Given the description of an element on the screen output the (x, y) to click on. 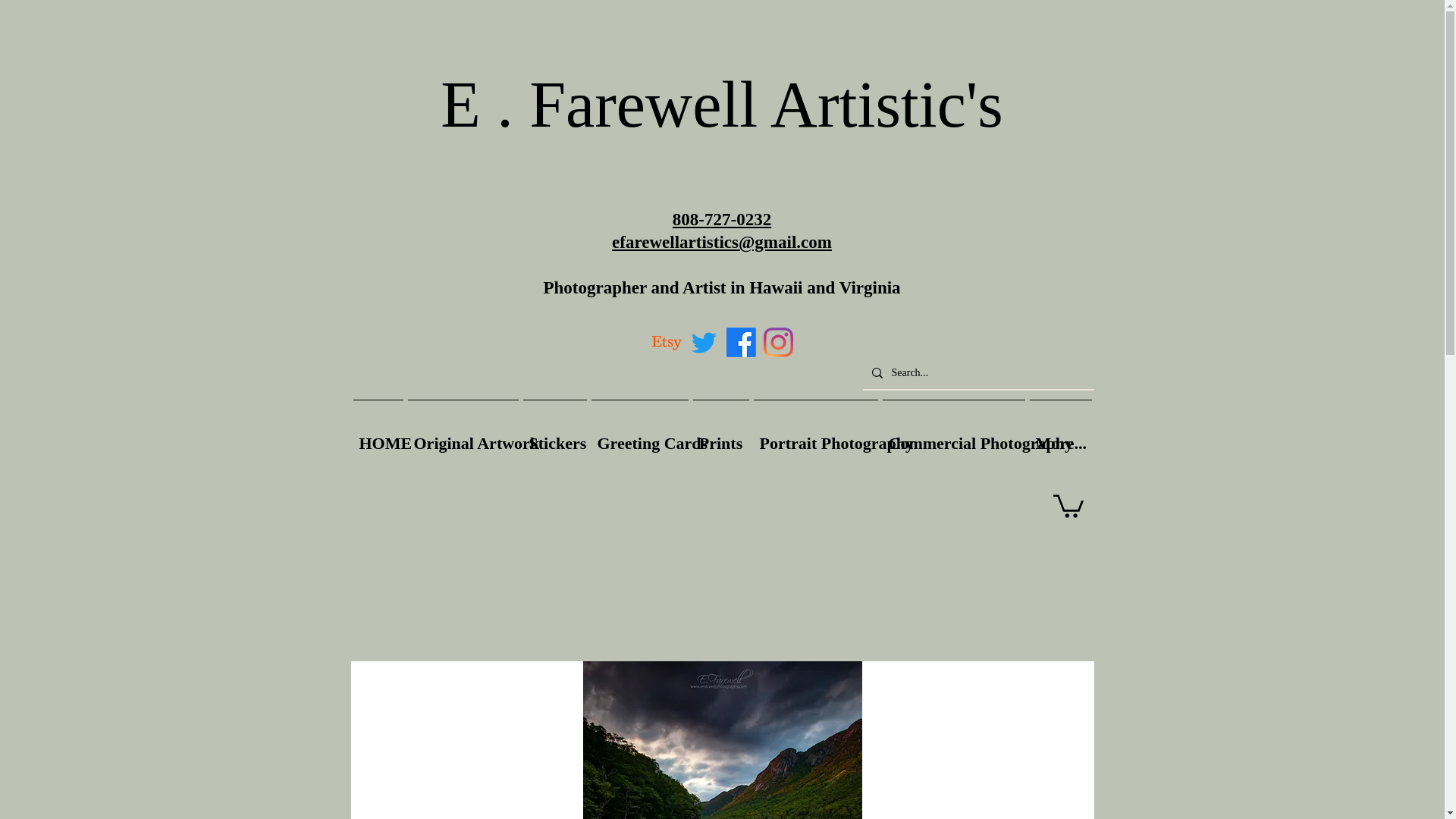
Stickers (553, 436)
Commercial Photography (952, 436)
Greeting Cards (639, 436)
Original Artwork (461, 436)
Portrait Photography (815, 436)
808-727-0232 (721, 219)
